Given the description of an element on the screen output the (x, y) to click on. 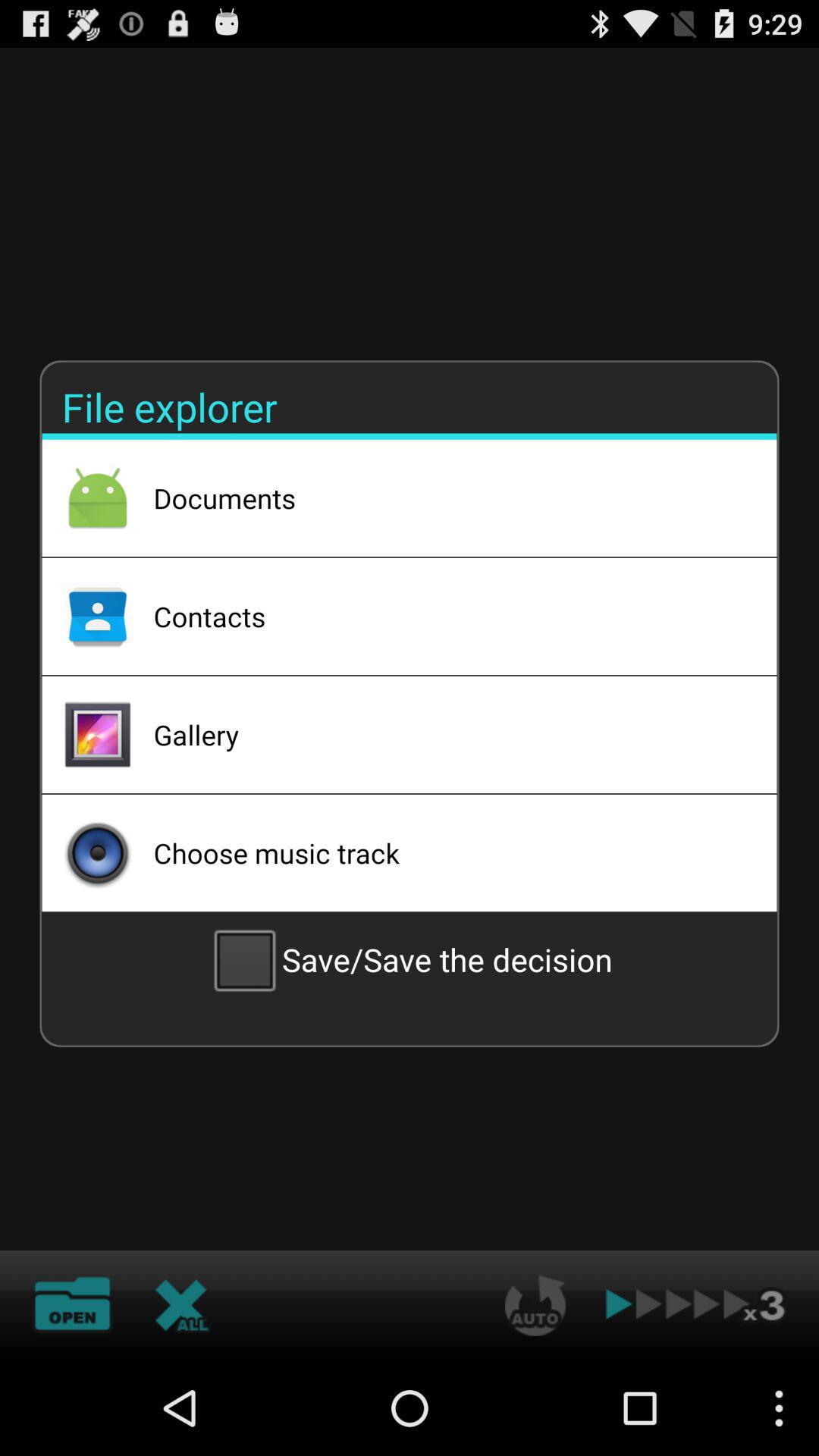
open the save save the checkbox (409, 959)
